Given the description of an element on the screen output the (x, y) to click on. 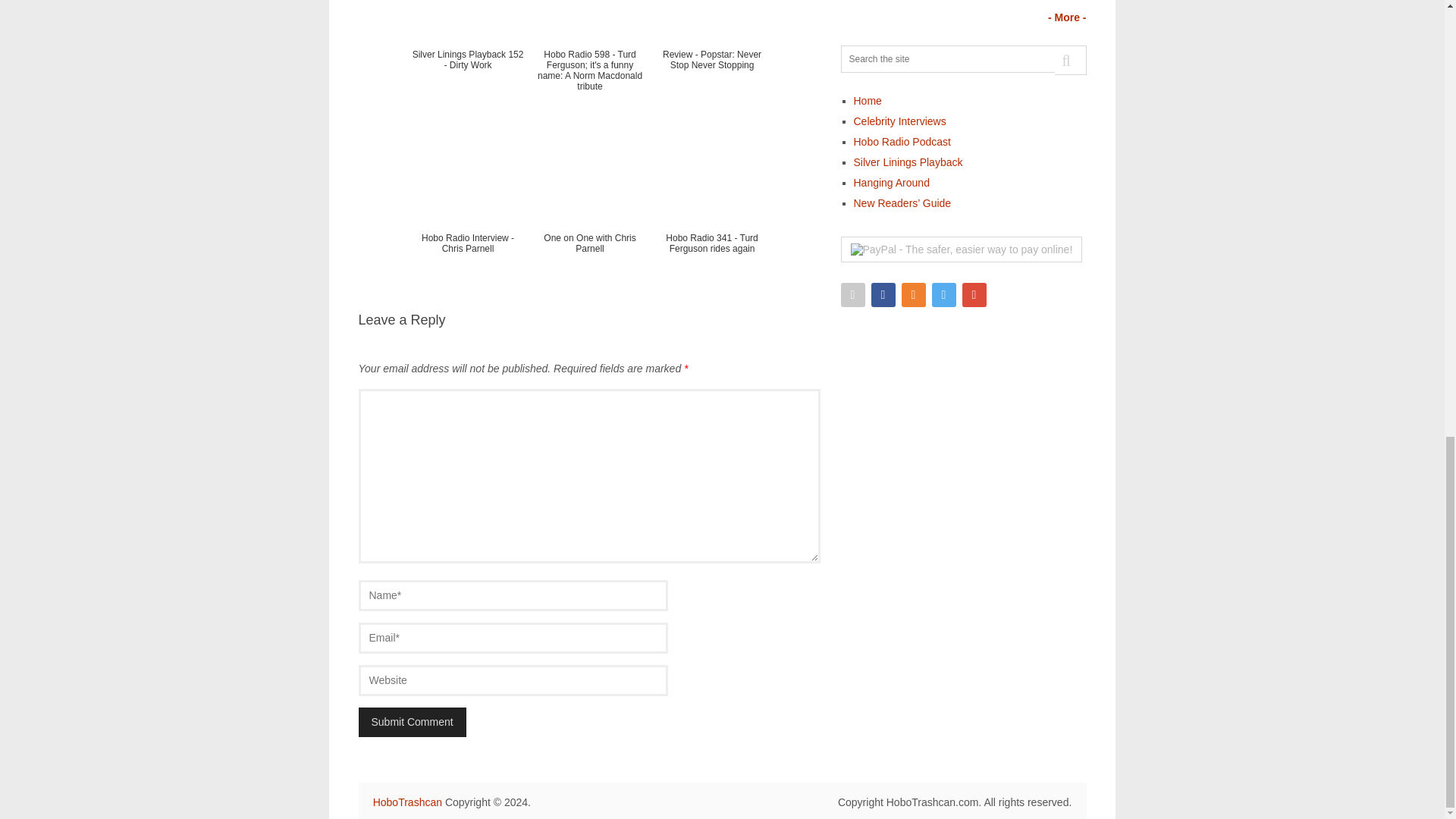
Silver Linings Playback 152 - Dirty Work (467, 54)
Facebook (882, 294)
Review - Popstar: Never Stop Never Stopping (711, 54)
Home (867, 101)
Submit Comment (411, 722)
Submit Comment (411, 722)
Email (852, 294)
Hobo Radio Podcast (901, 141)
Silver Linings Playback (907, 162)
